Given the description of an element on the screen output the (x, y) to click on. 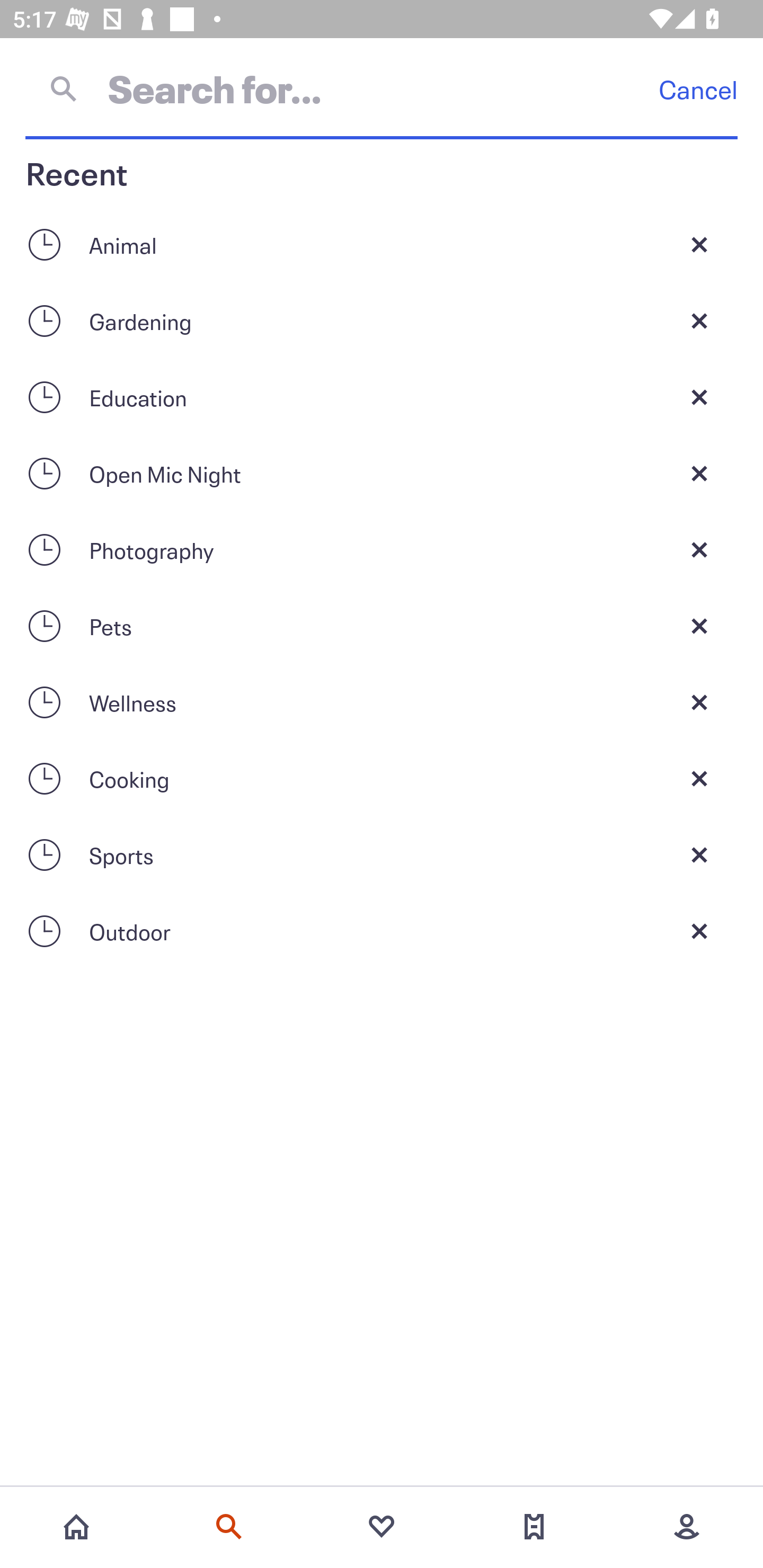
Cancel Search for… (381, 88)
Cancel (697, 89)
Animal Close current screen (381, 244)
Close current screen (699, 244)
Gardening Close current screen (381, 320)
Close current screen (699, 320)
Education Close current screen (381, 397)
Close current screen (699, 397)
Open Mic Night Close current screen (381, 473)
Close current screen (699, 473)
Photography Close current screen (381, 549)
Close current screen (699, 549)
Pets Close current screen (381, 626)
Close current screen (699, 626)
Wellness Close current screen (381, 702)
Close current screen (699, 702)
Cooking Close current screen (381, 778)
Close current screen (699, 778)
Sports Close current screen (381, 854)
Close current screen (699, 854)
Outdoor Close current screen (381, 931)
Close current screen (699, 931)
Home (76, 1526)
Search events (228, 1526)
Favorites (381, 1526)
Tickets (533, 1526)
More (686, 1526)
